Given the description of an element on the screen output the (x, y) to click on. 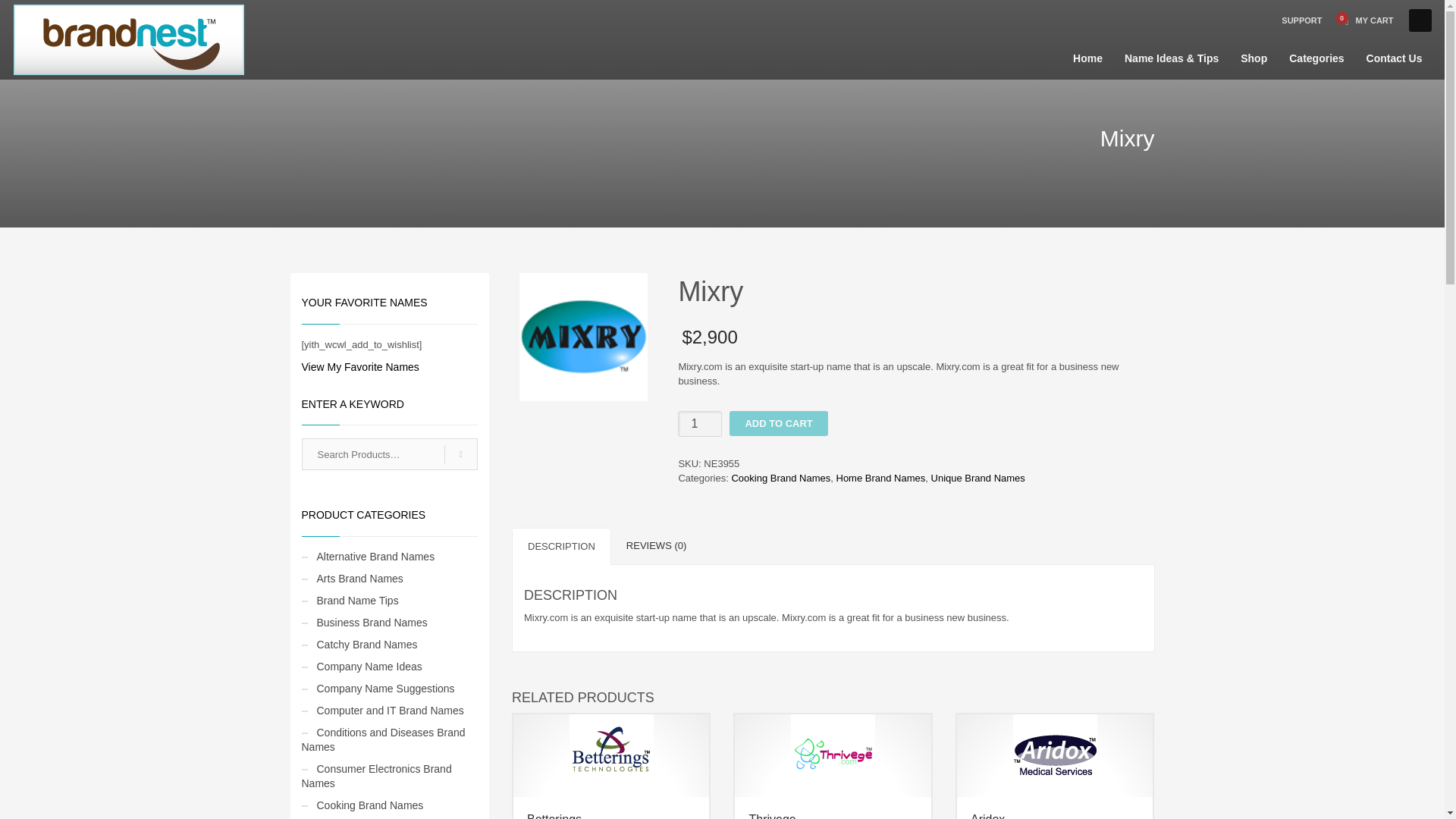
Company Name Ideas, Naming Suggestions and Brand Tips (128, 39)
thrivege1.gif (832, 754)
1 (700, 423)
betterings.gif (611, 754)
View your shopping cart (1365, 20)
aridox.gif (1055, 754)
mixry.gif (583, 336)
